Given the description of an element on the screen output the (x, y) to click on. 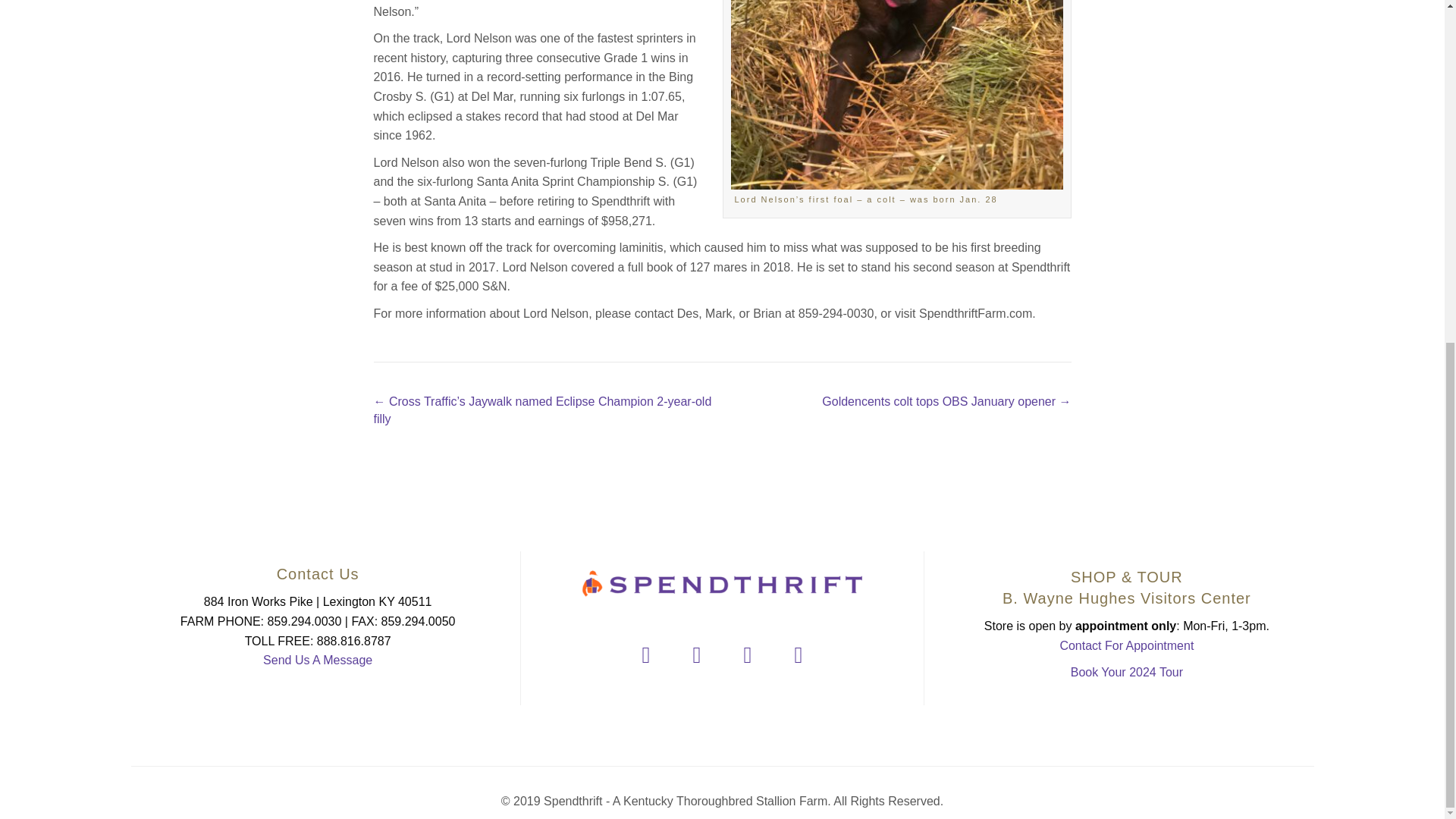
Contact For Appointment (1126, 645)
Send Us A Message (317, 659)
Book Your 2024 Tour (1126, 671)
